Given the description of an element on the screen output the (x, y) to click on. 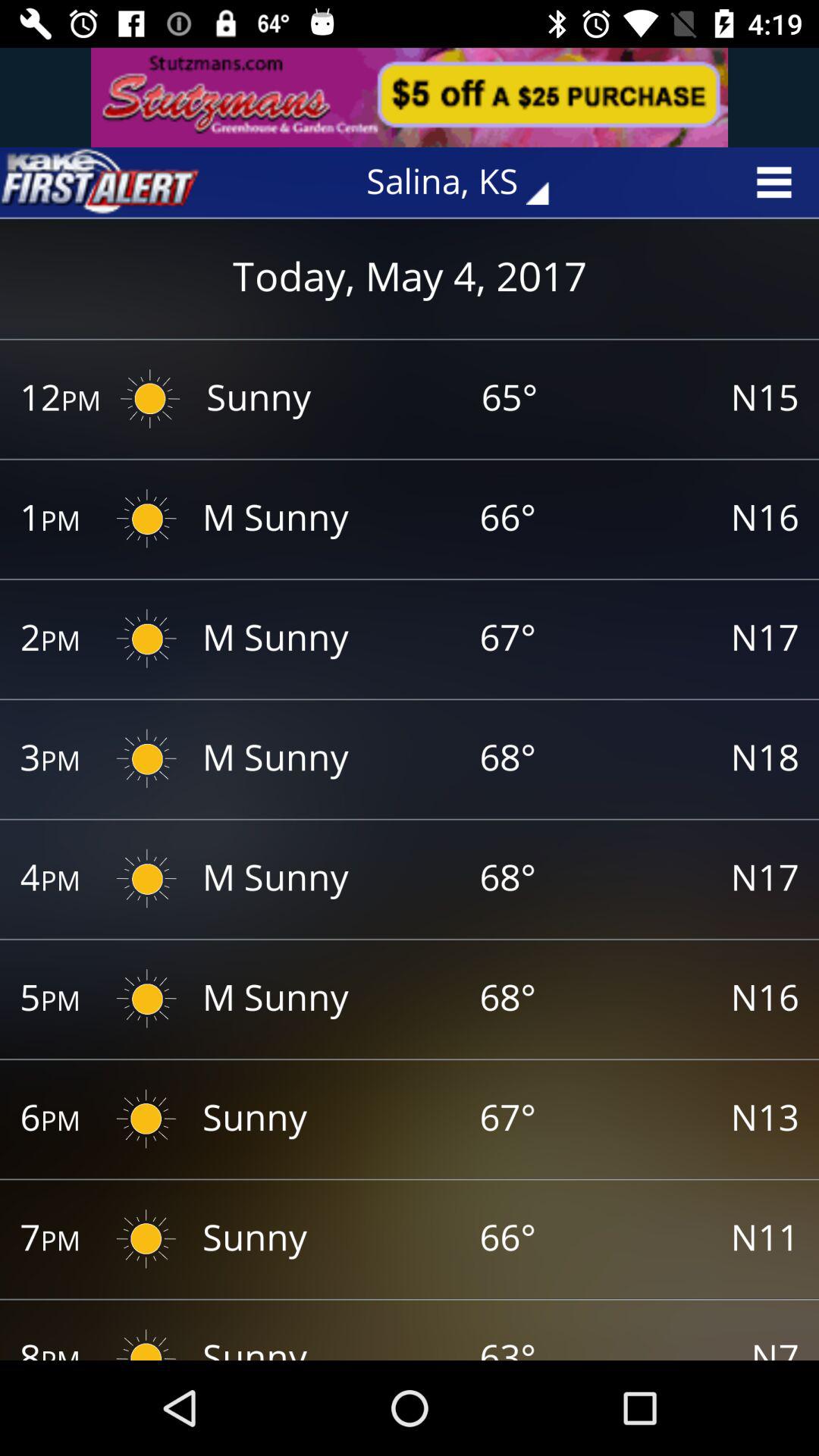
advatisment pega (409, 97)
